Given the description of an element on the screen output the (x, y) to click on. 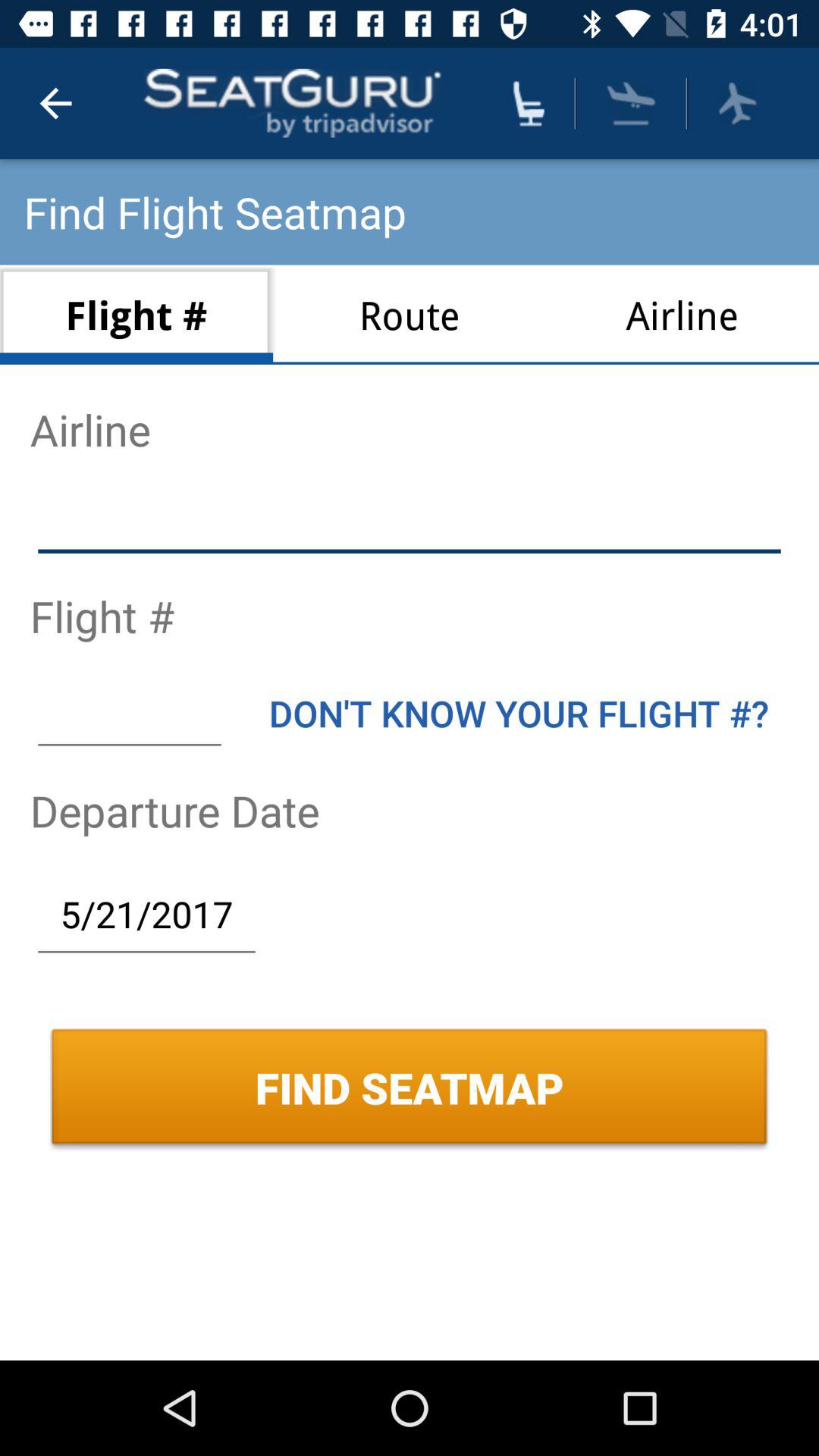
press the item next to the airline icon (409, 314)
